Given the description of an element on the screen output the (x, y) to click on. 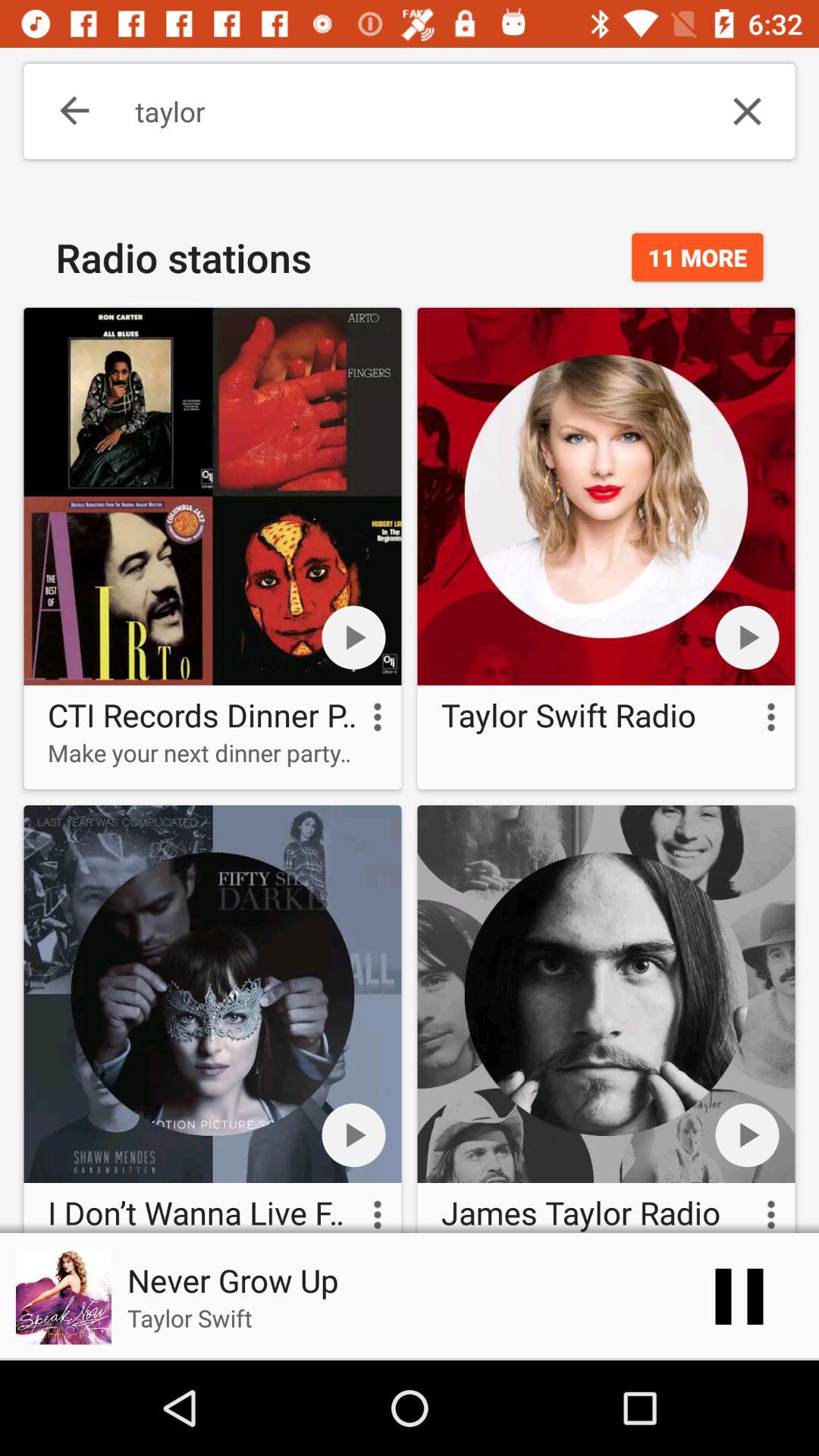
open the item next to taylor icon (747, 111)
